Given the description of an element on the screen output the (x, y) to click on. 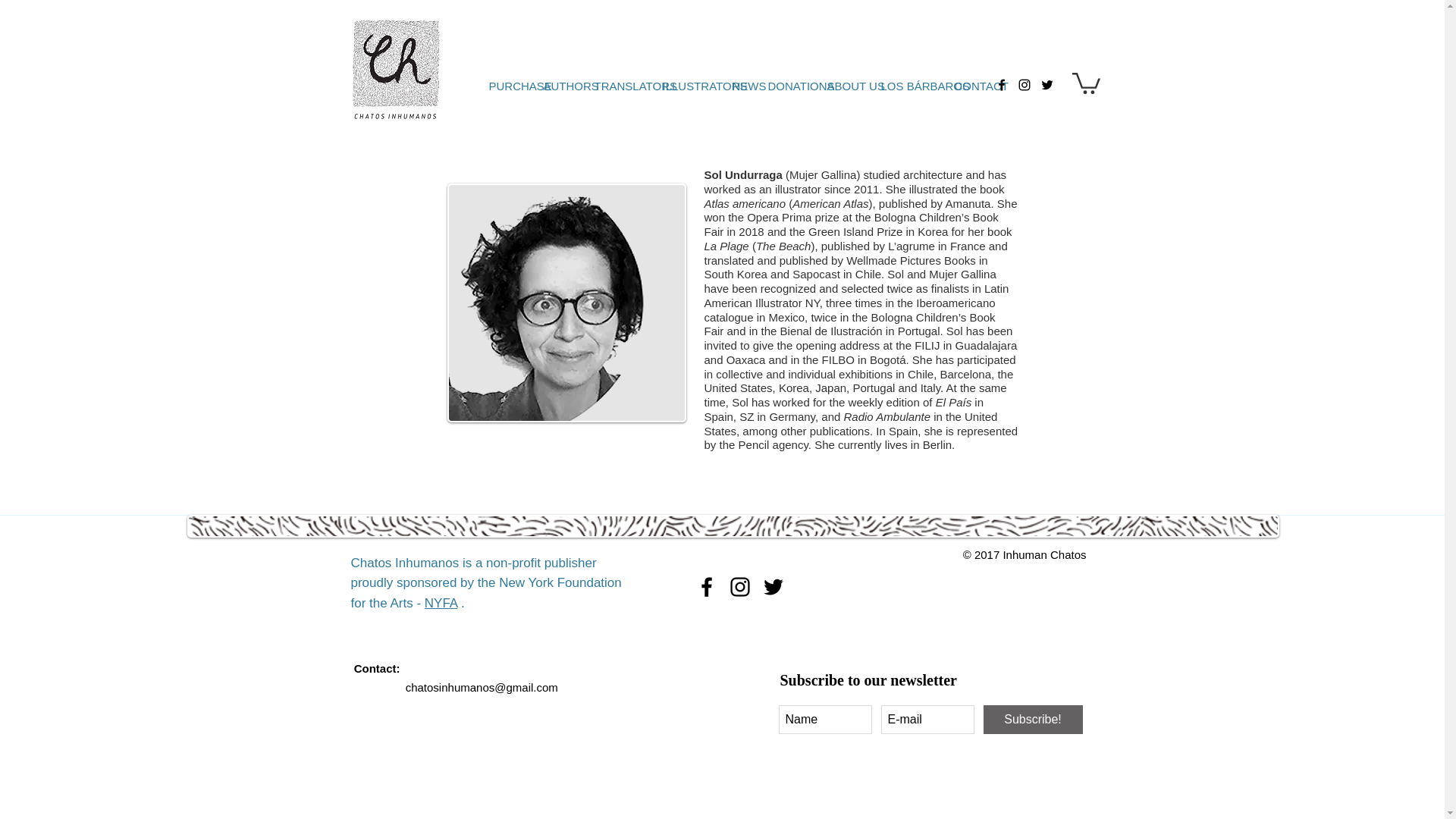
ABOUT US (845, 85)
juguillo.jpeg (565, 302)
Subscribe! (1031, 719)
CONTACT (971, 85)
DONATIONS (789, 85)
NYFA (441, 603)
ILLUSTRATORS (690, 85)
NEWS (742, 85)
AUTHORS (560, 85)
PURCHASE (507, 85)
